Given the description of an element on the screen output the (x, y) to click on. 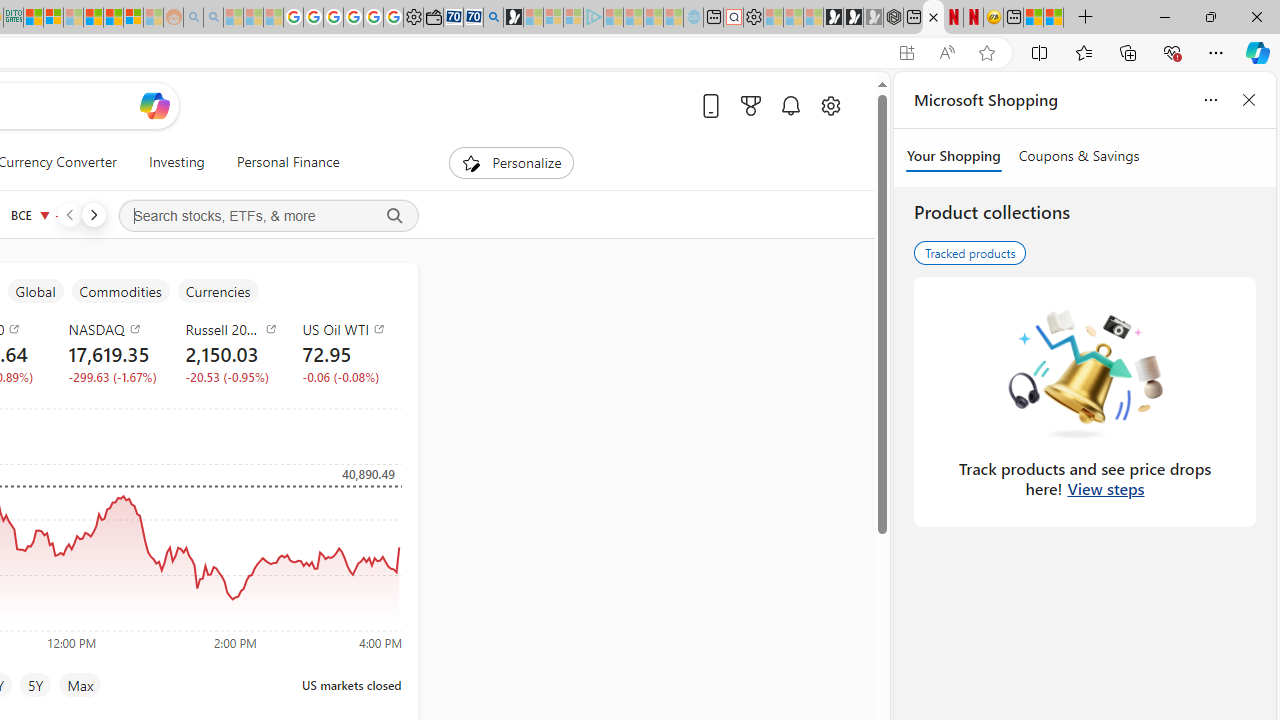
Bing Real Estate - Home sales and rental listings (493, 17)
Next (93, 214)
US Oil WTI USOIL decrease 72.95 -0.06 -0.08% (345, 351)
